Given the description of an element on the screen output the (x, y) to click on. 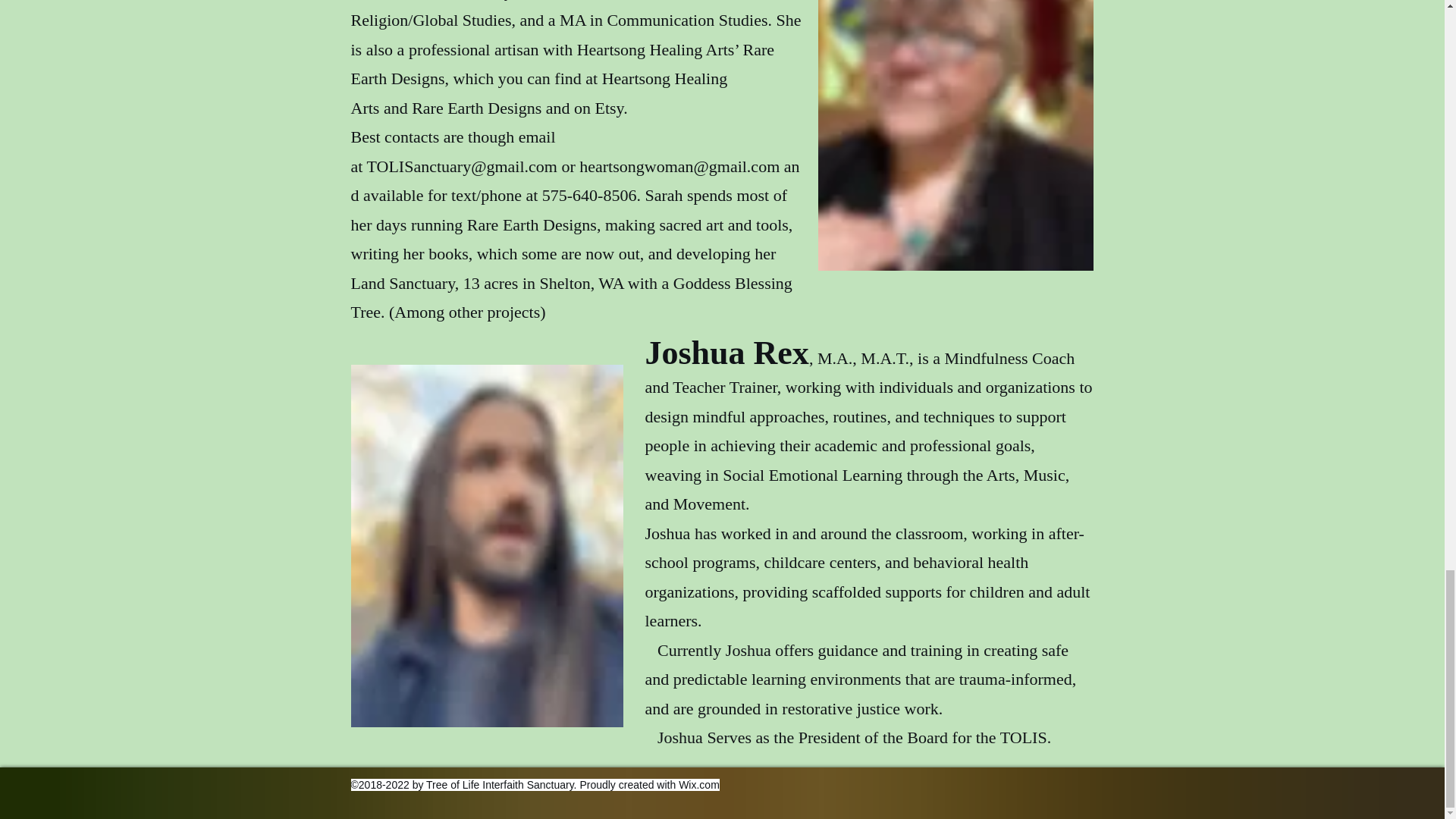
Rare Earth Designs (476, 107)
Etsy (608, 107)
Heartsong Healing Arts (538, 92)
